Given the description of an element on the screen output the (x, y) to click on. 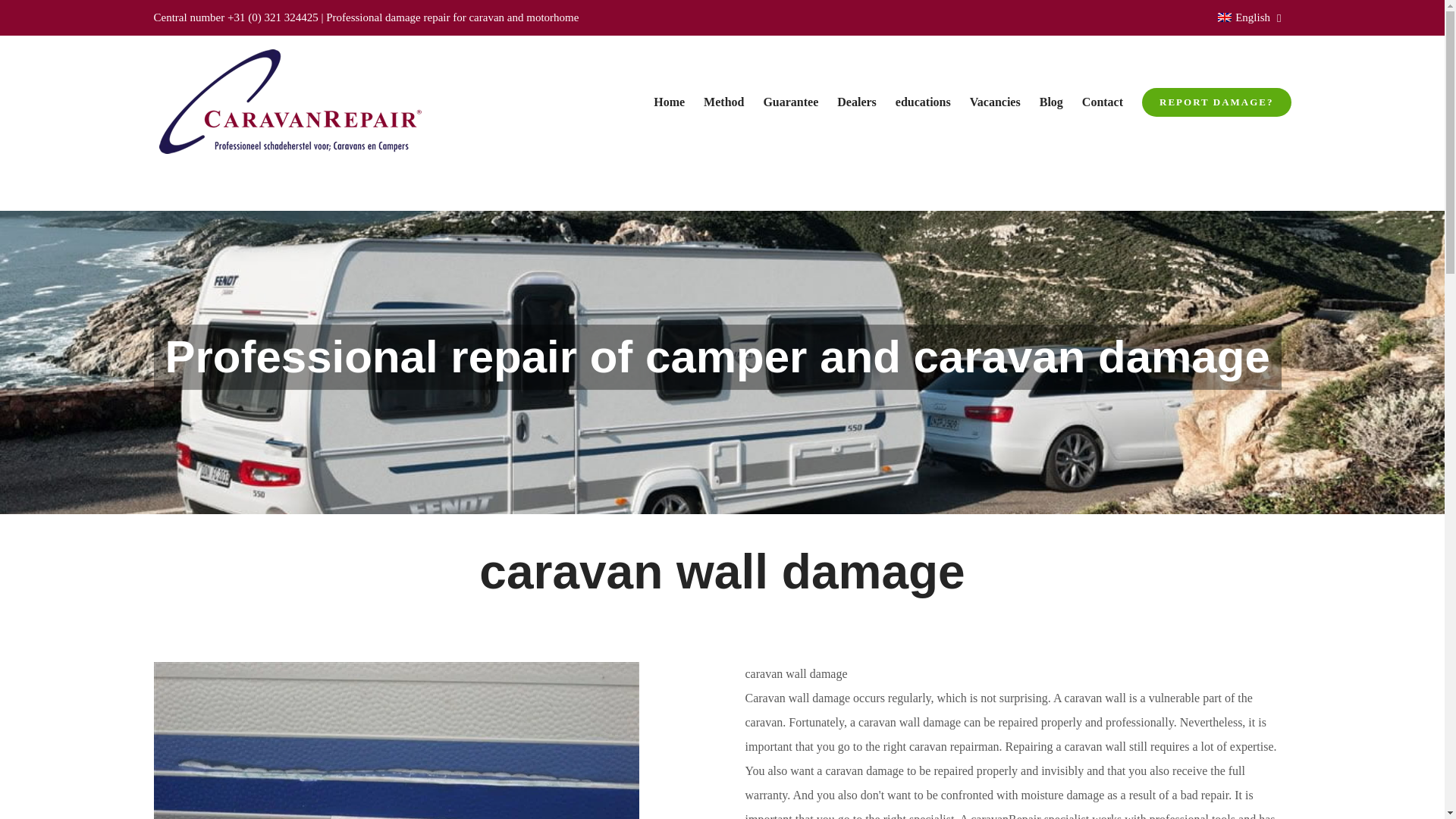
motorhome (551, 17)
English (1224, 17)
English (1247, 17)
REPORT DAMAGE? (1215, 102)
caravan (487, 17)
